Given the description of an element on the screen output the (x, y) to click on. 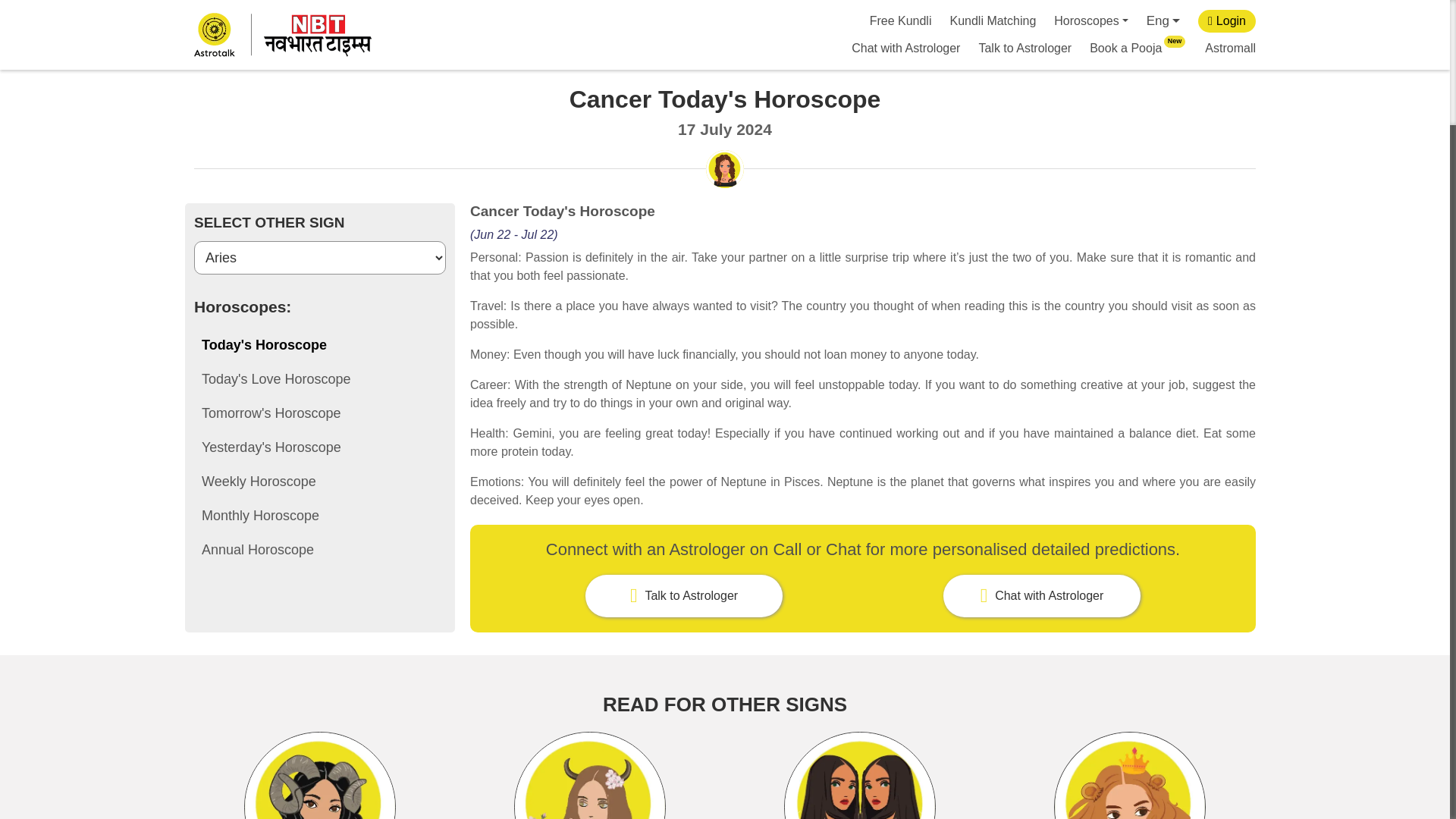
Chat with Astrologer (906, 48)
Today's Horoscope (319, 344)
Free Kundli (900, 21)
Kundli Matching (1137, 48)
Talk to Astrologer (992, 21)
Astromall (1024, 48)
